Given the description of an element on the screen output the (x, y) to click on. 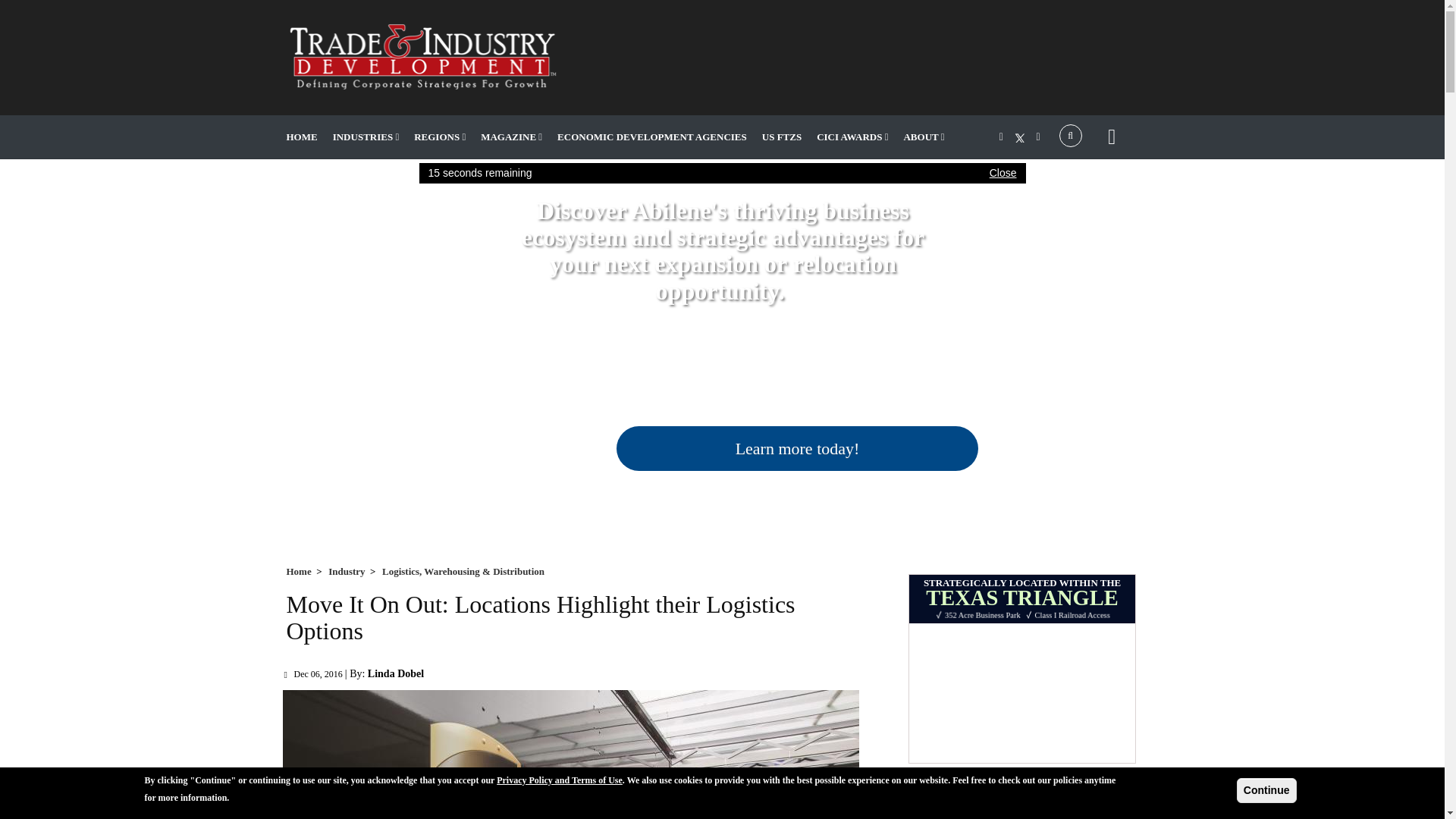
REGIONS (439, 136)
MAGAZINE (511, 136)
YouTube video player (1022, 808)
Move It On Out: Locations Highlight their Logistics Options (570, 754)
ECONOMIC DEVELOPMENT AGENCIES (652, 136)
US FTZS (781, 136)
INDUSTRIES (365, 136)
HOME (301, 136)
Home (422, 56)
CICI AWARDS (852, 136)
3rd party ad content (1021, 668)
3rd party ad content (871, 62)
